Given the description of an element on the screen output the (x, y) to click on. 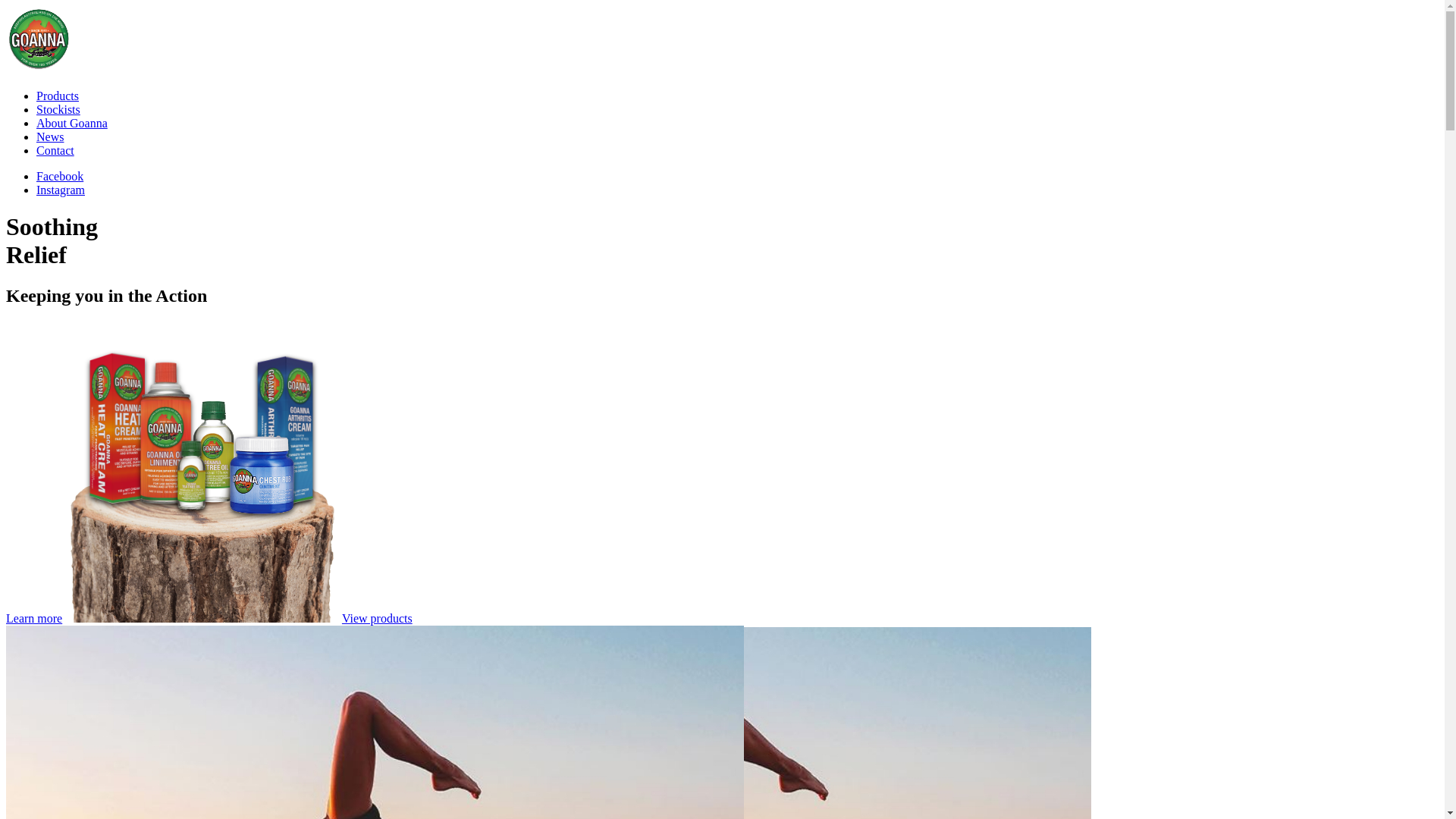
Instagram Element type: text (60, 189)
News Element type: text (49, 136)
Contact Element type: text (55, 150)
Facebook Element type: text (59, 175)
Stockists Element type: text (58, 109)
Products Element type: text (57, 95)
About Goanna Element type: text (71, 122)
Learn more Element type: text (34, 617)
View products Element type: text (377, 617)
